Given the description of an element on the screen output the (x, y) to click on. 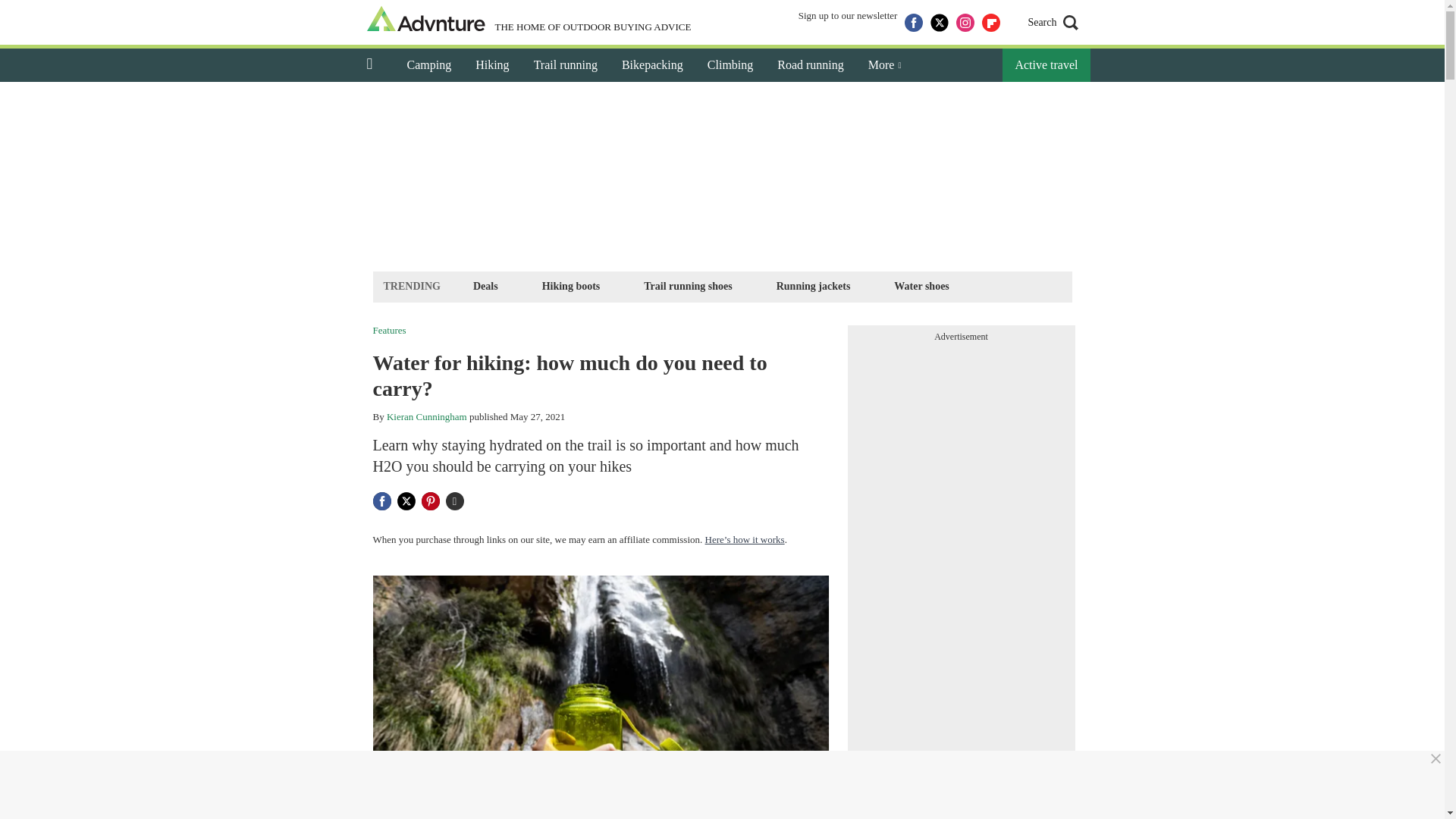
Camping (428, 64)
Hiking (492, 64)
Road running (810, 64)
Climbing (730, 64)
Features (389, 329)
Deals (485, 286)
Running jackets (813, 286)
Sign up to our newsletter (847, 22)
Trail running shoes (687, 286)
THE HOME OF OUTDOOR BUYING ADVICE (528, 20)
Kieran Cunningham (427, 416)
